Given the description of an element on the screen output the (x, y) to click on. 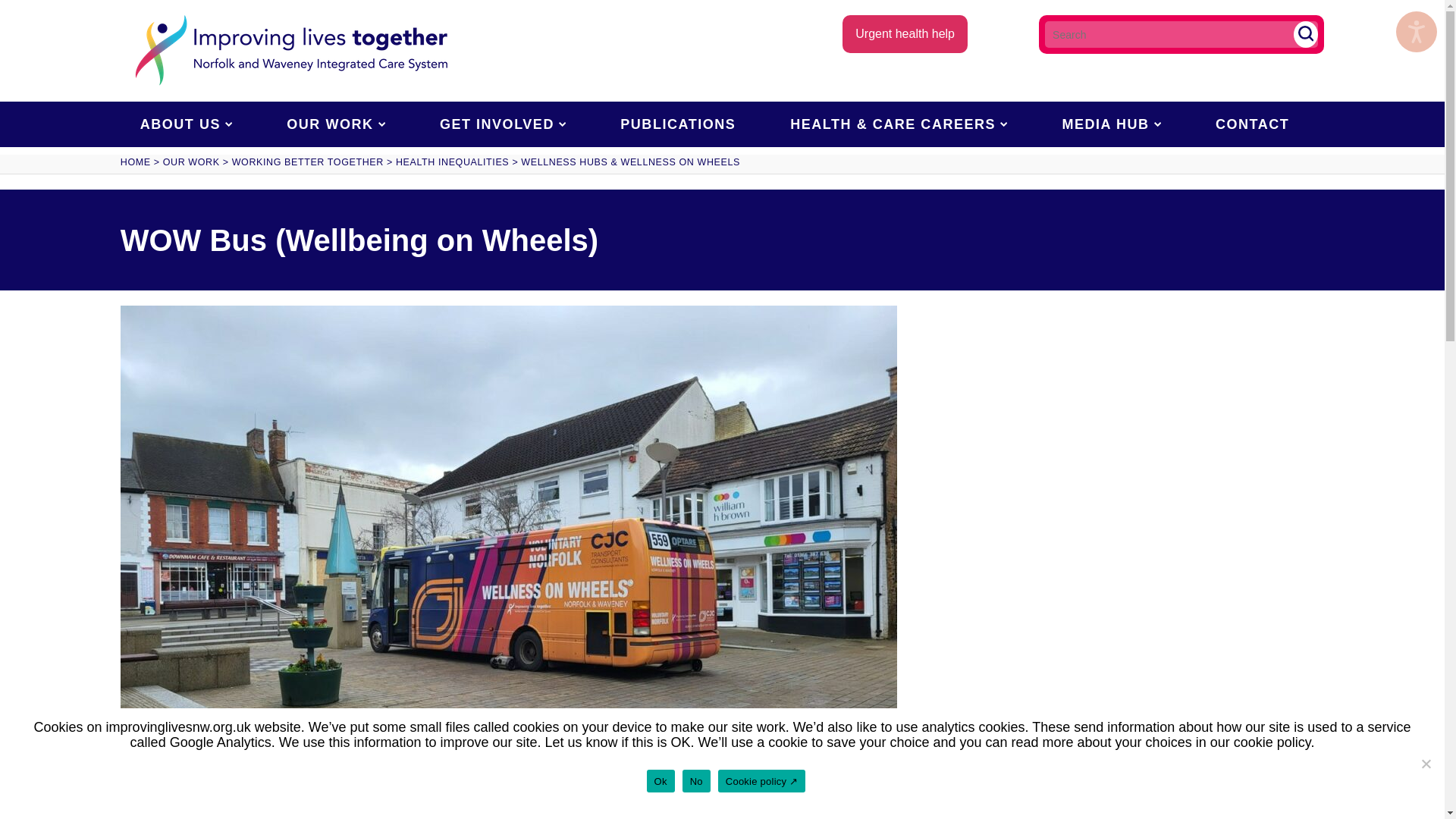
Urgent health help (905, 34)
Listen with the ReachDeck Toolbar (1416, 31)
Click to search (1305, 34)
ABOUT US (185, 124)
No (1425, 763)
